Given the description of an element on the screen output the (x, y) to click on. 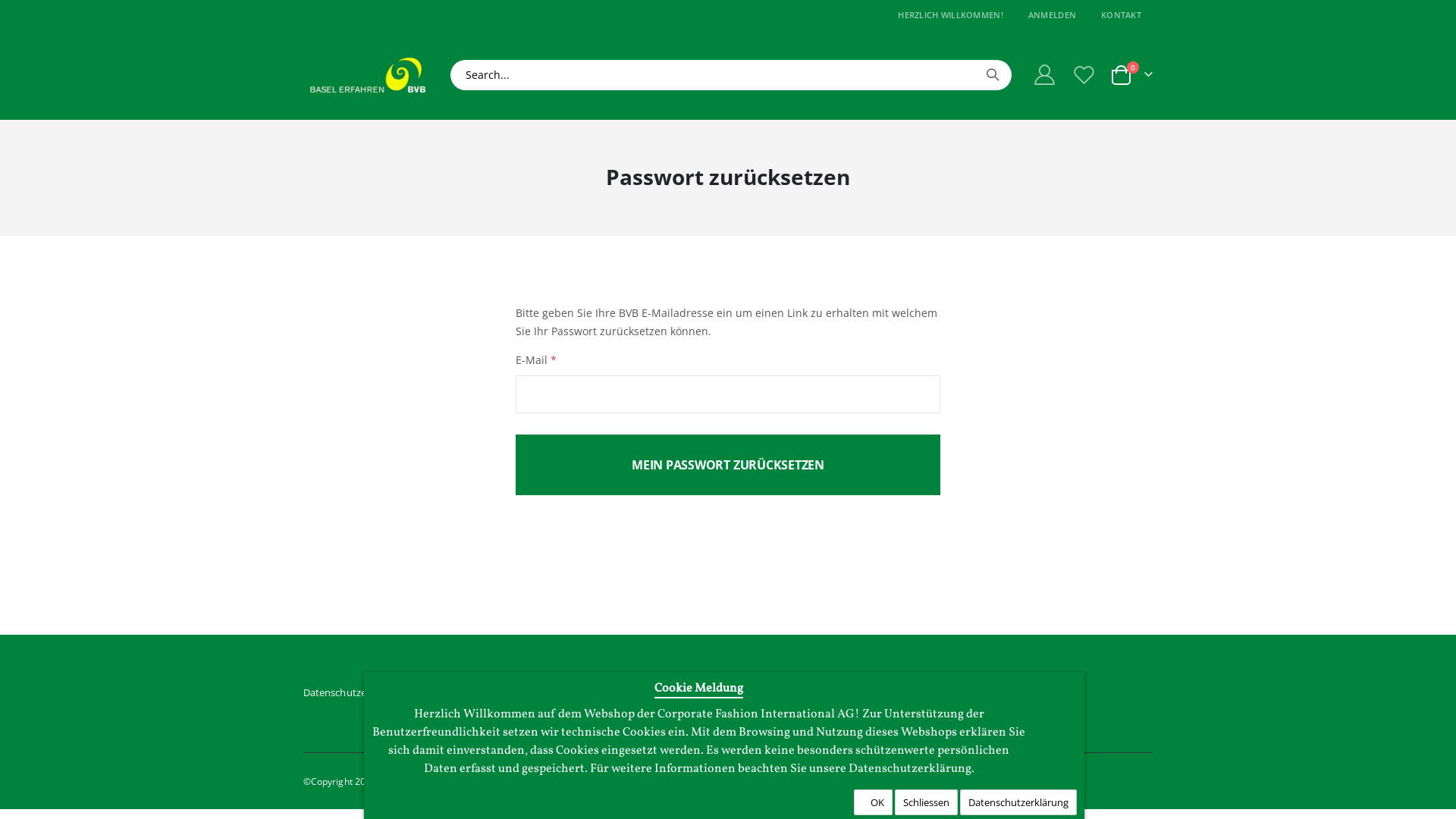
Schliessen Element type: text (925, 802)
My Account Element type: hover (1043, 74)
Wishlist Element type: hover (1085, 74)
OK Element type: text (872, 802)
ANMELDEN Element type: text (1051, 15)
KONTAKT Element type: text (1120, 15)
Suche Element type: hover (992, 74)
Cart
0 Element type: text (1130, 74)
